Given the description of an element on the screen output the (x, y) to click on. 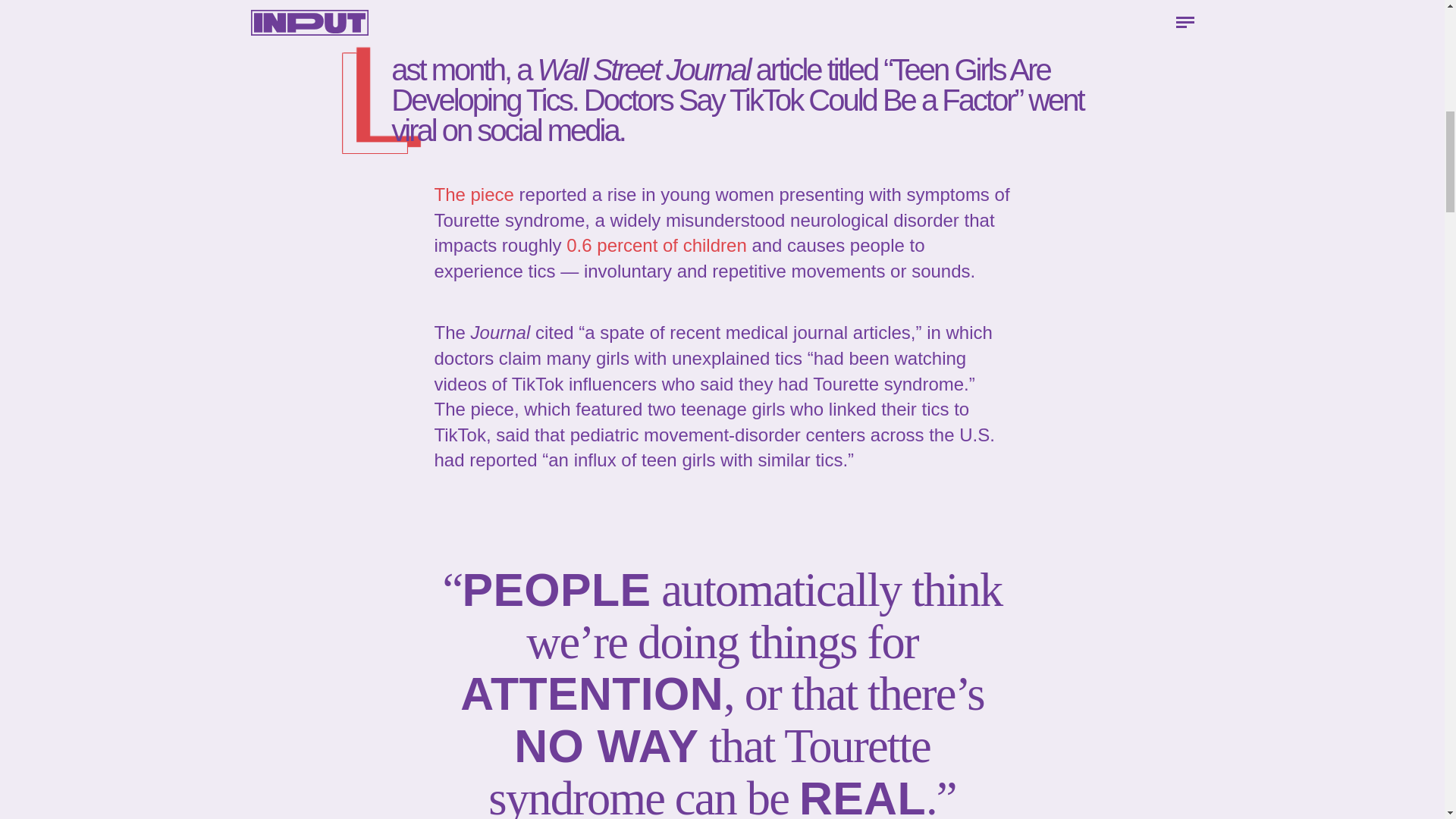
0.6 percent of children (655, 245)
The piece (473, 194)
